Given the description of an element on the screen output the (x, y) to click on. 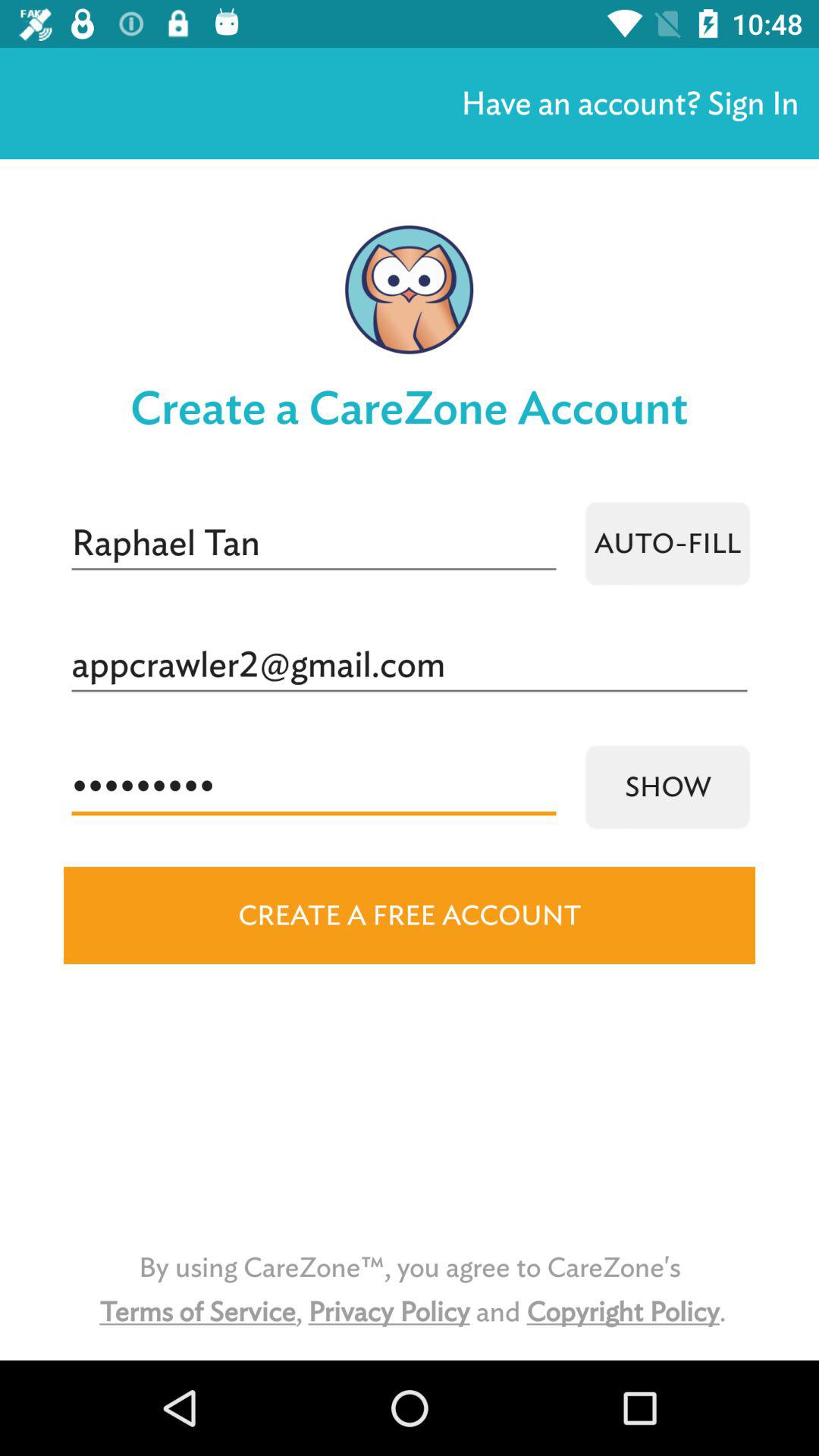
choose icon next to the raphael tan item (667, 543)
